Given the description of an element on the screen output the (x, y) to click on. 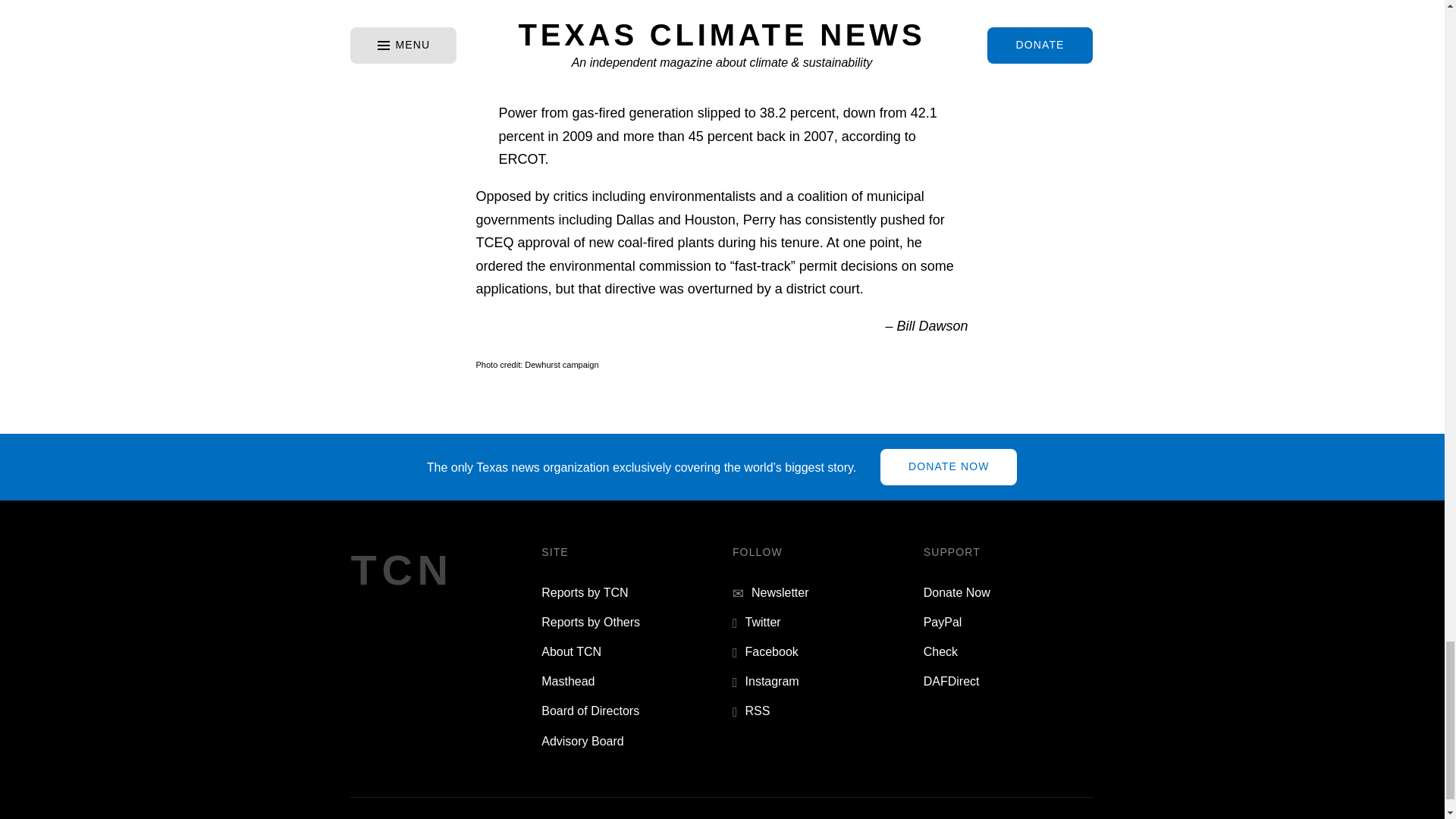
Masthead (567, 680)
DONATE NOW (948, 466)
About TCN (571, 651)
Reports by Others (590, 621)
Reports by TCN (584, 592)
reported (772, 16)
